Given the description of an element on the screen output the (x, y) to click on. 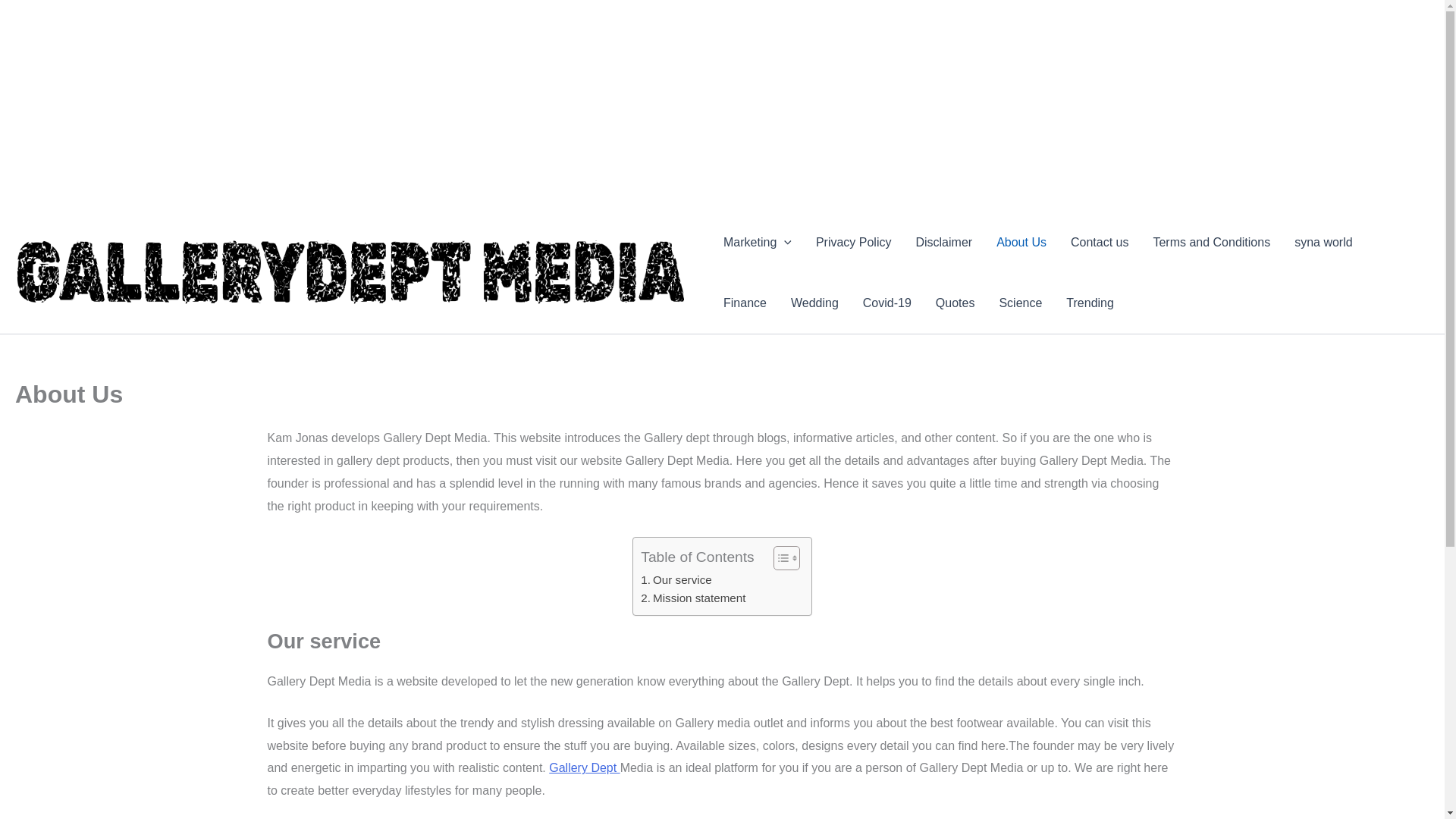
Covid-19 (886, 302)
About Us (1021, 242)
Quotes (955, 302)
Our service (675, 579)
Contact us (1099, 242)
Our service (675, 579)
Gallery Dept (584, 767)
Privacy Policy (853, 242)
Wedding (814, 302)
Marketing (757, 242)
Terms and Conditions (1211, 242)
Disclaimer (943, 242)
Trending (1089, 302)
Mission statement (692, 597)
